Given the description of an element on the screen output the (x, y) to click on. 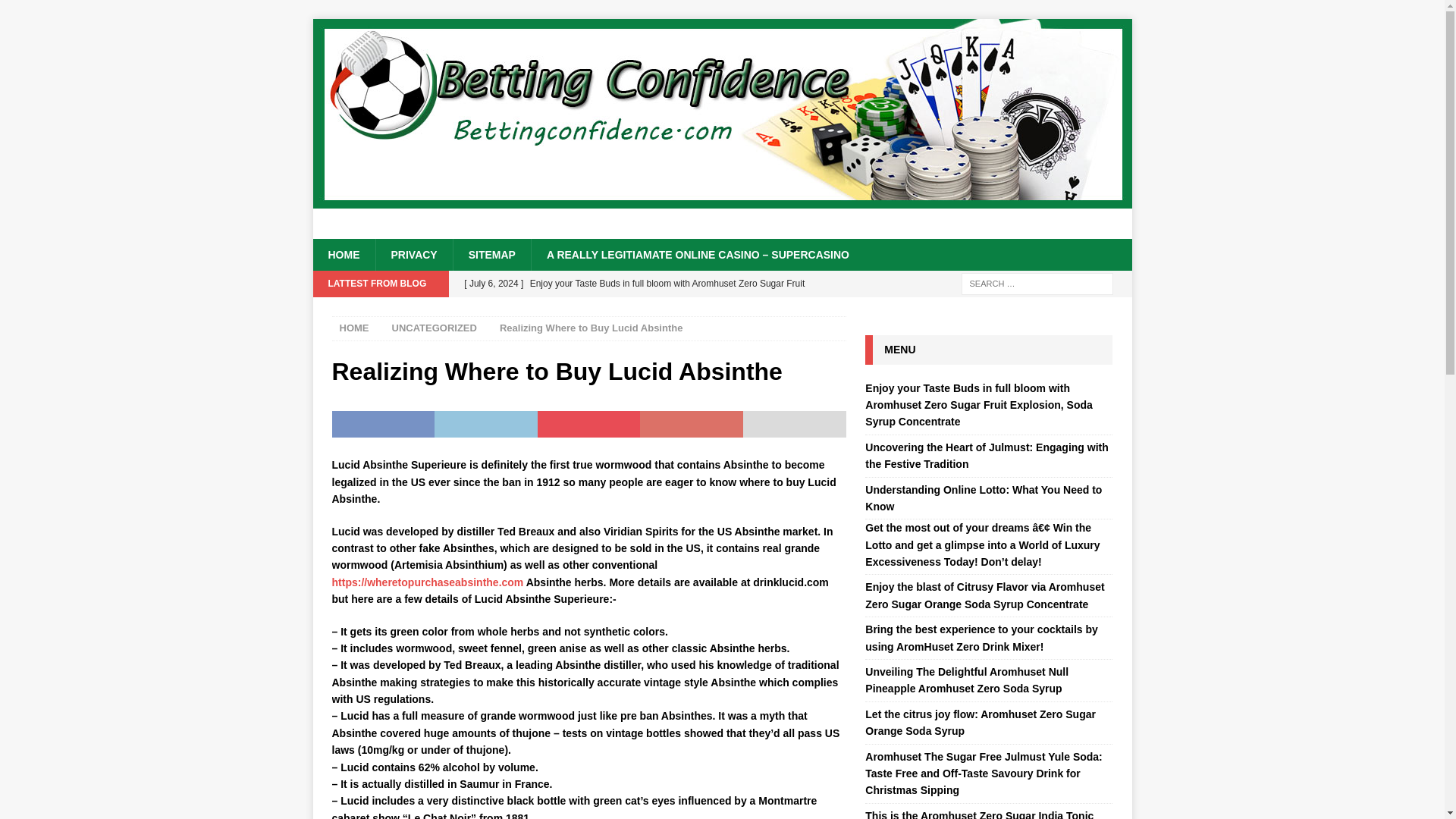
UNCATEGORIZED (433, 327)
HOME (343, 255)
HOME (354, 327)
Search (56, 11)
PRIVACY (412, 255)
bettingconfidence (722, 200)
SITEMAP (491, 255)
